Given the description of an element on the screen output the (x, y) to click on. 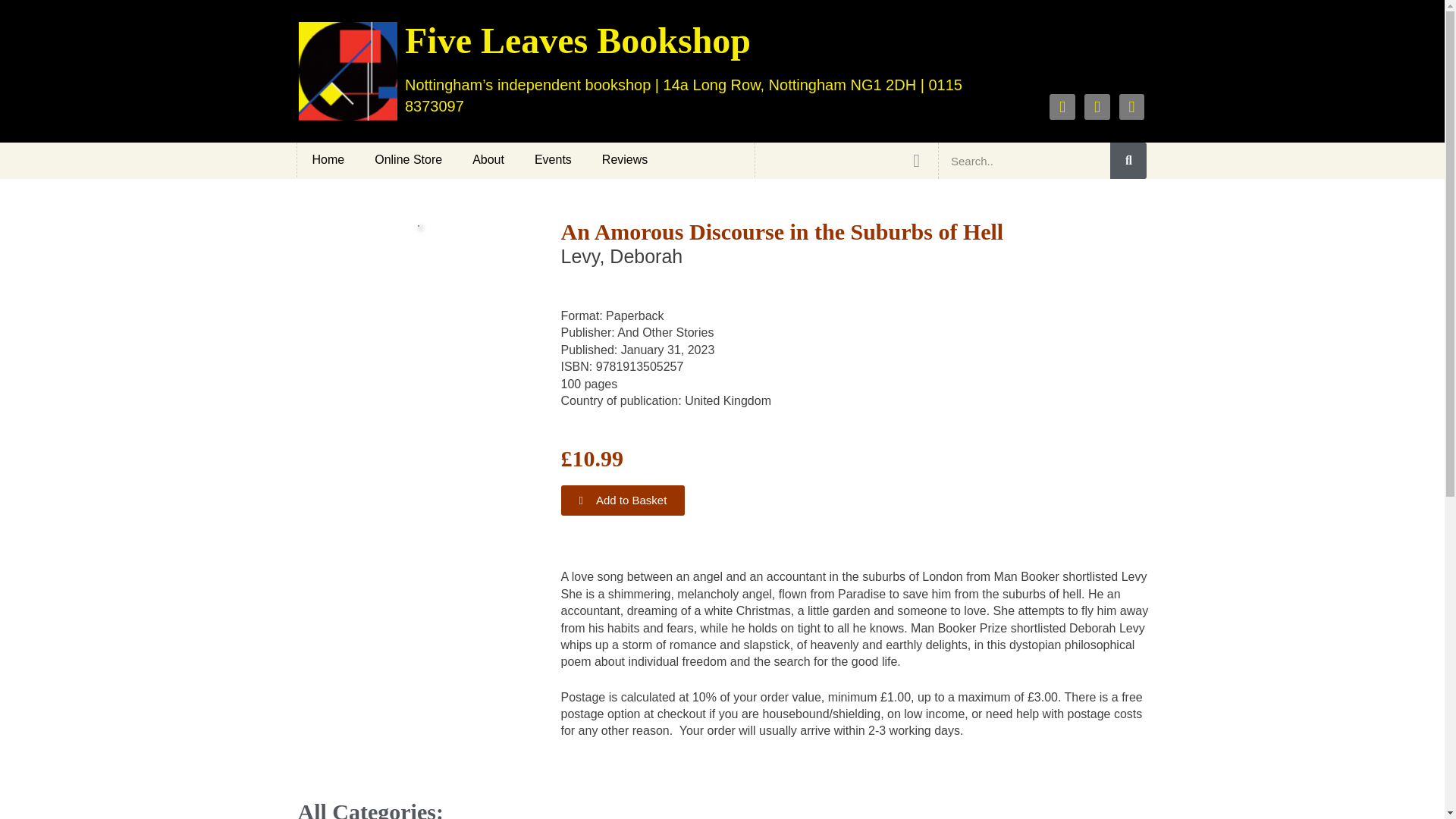
Search (1128, 160)
Home (328, 159)
Search (1024, 160)
Five Leaves Bookshop (577, 40)
logo-cropped (347, 71)
Reviews (624, 159)
Events (552, 159)
Add to Basket (622, 500)
About (488, 159)
Online Store (408, 159)
